Given the description of an element on the screen output the (x, y) to click on. 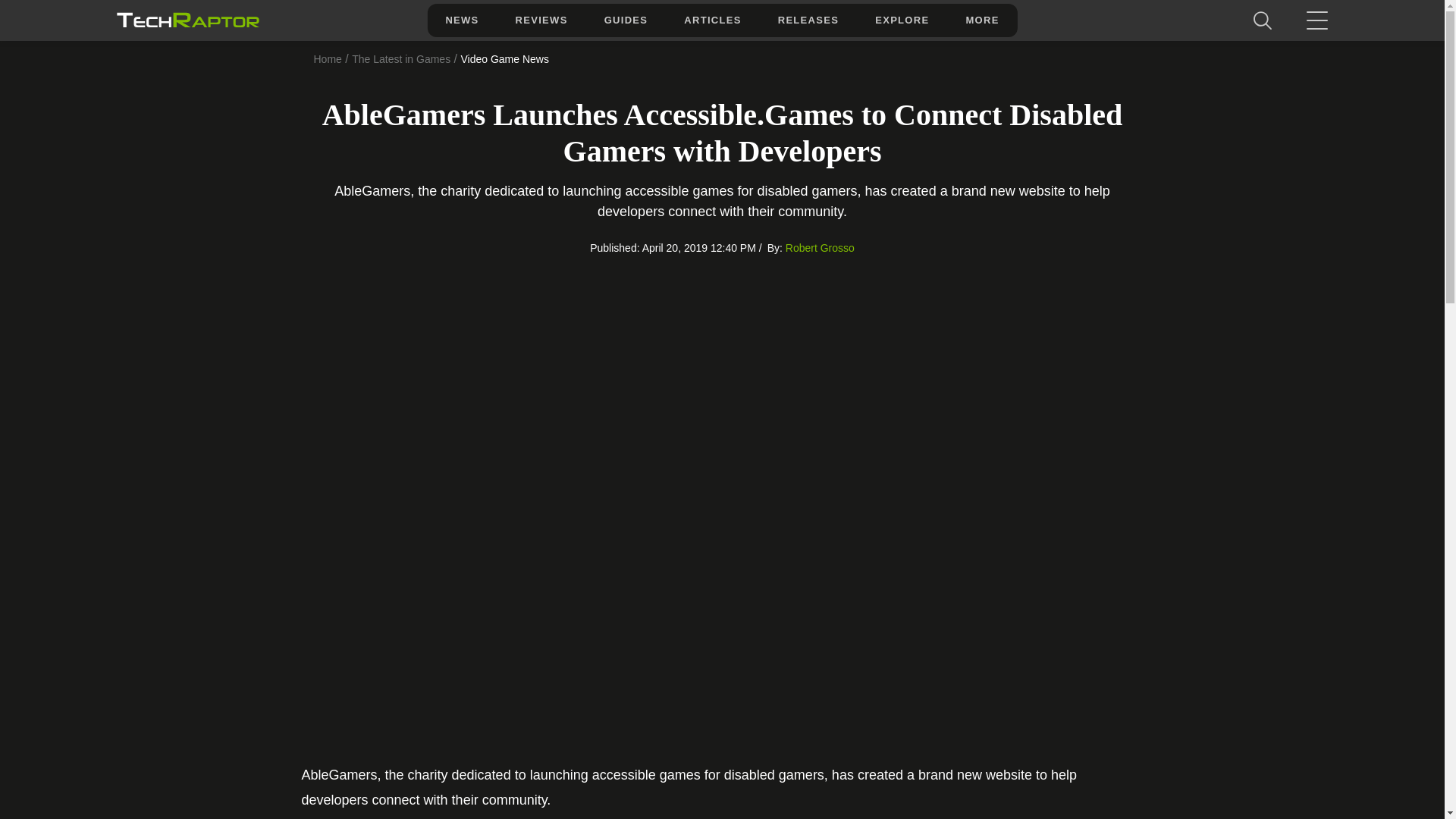
NEWS (461, 20)
TechRaptor Home (187, 20)
RELEASES (807, 20)
GUIDES (626, 20)
REVIEWS (541, 20)
ARTICLES (711, 20)
